Given the description of an element on the screen output the (x, y) to click on. 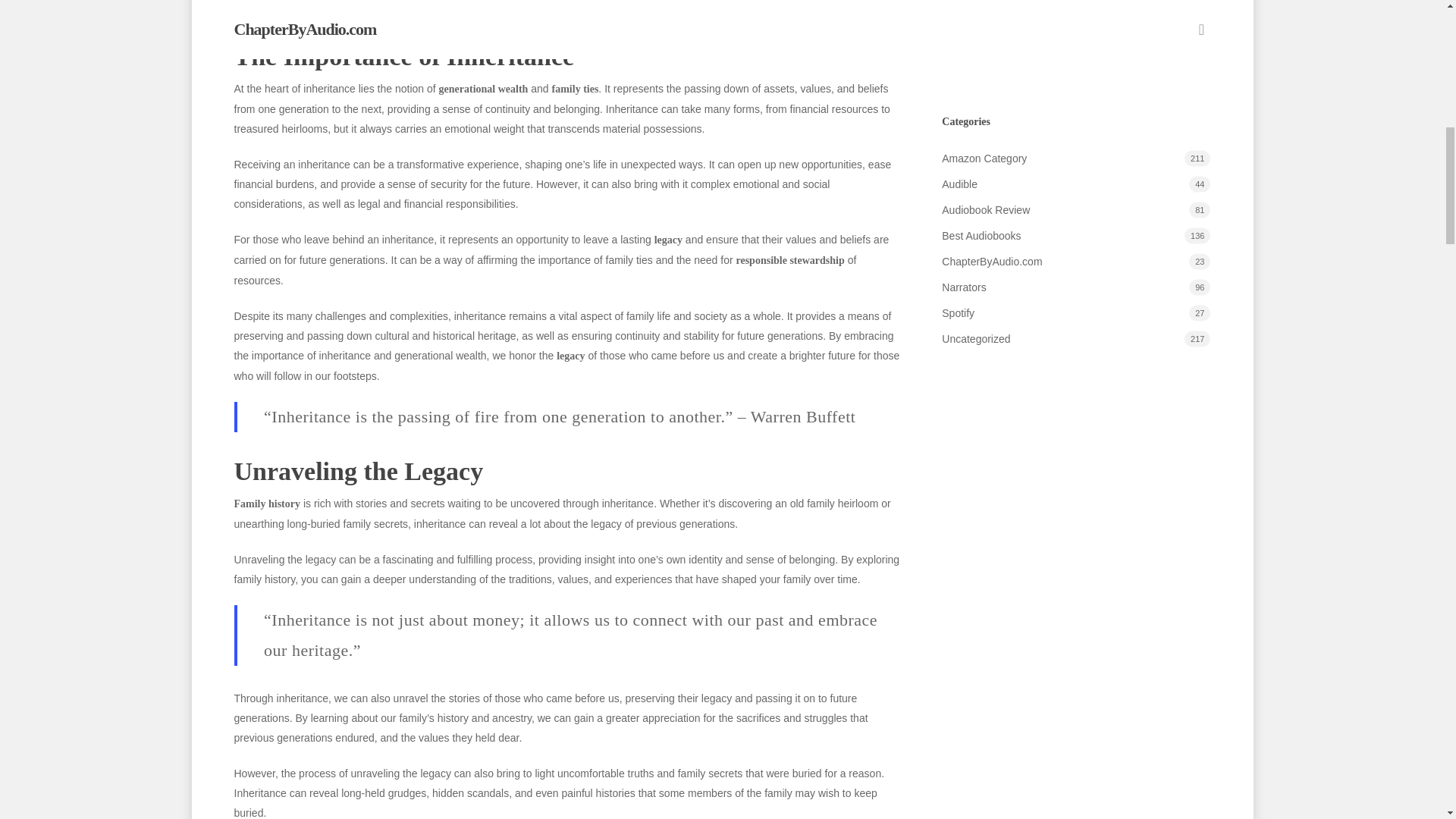
Spotify (1075, 312)
Audiobook Review (1075, 209)
Uncategorized (1075, 338)
Prime Sonic Delights: Free Audiobooks Awaits (1075, 51)
Audible (1075, 184)
Best Audiobooks (1075, 235)
ChapterByAudio.com (1075, 261)
Amazon Category (1075, 158)
Narrators (1075, 287)
